Given the description of an element on the screen output the (x, y) to click on. 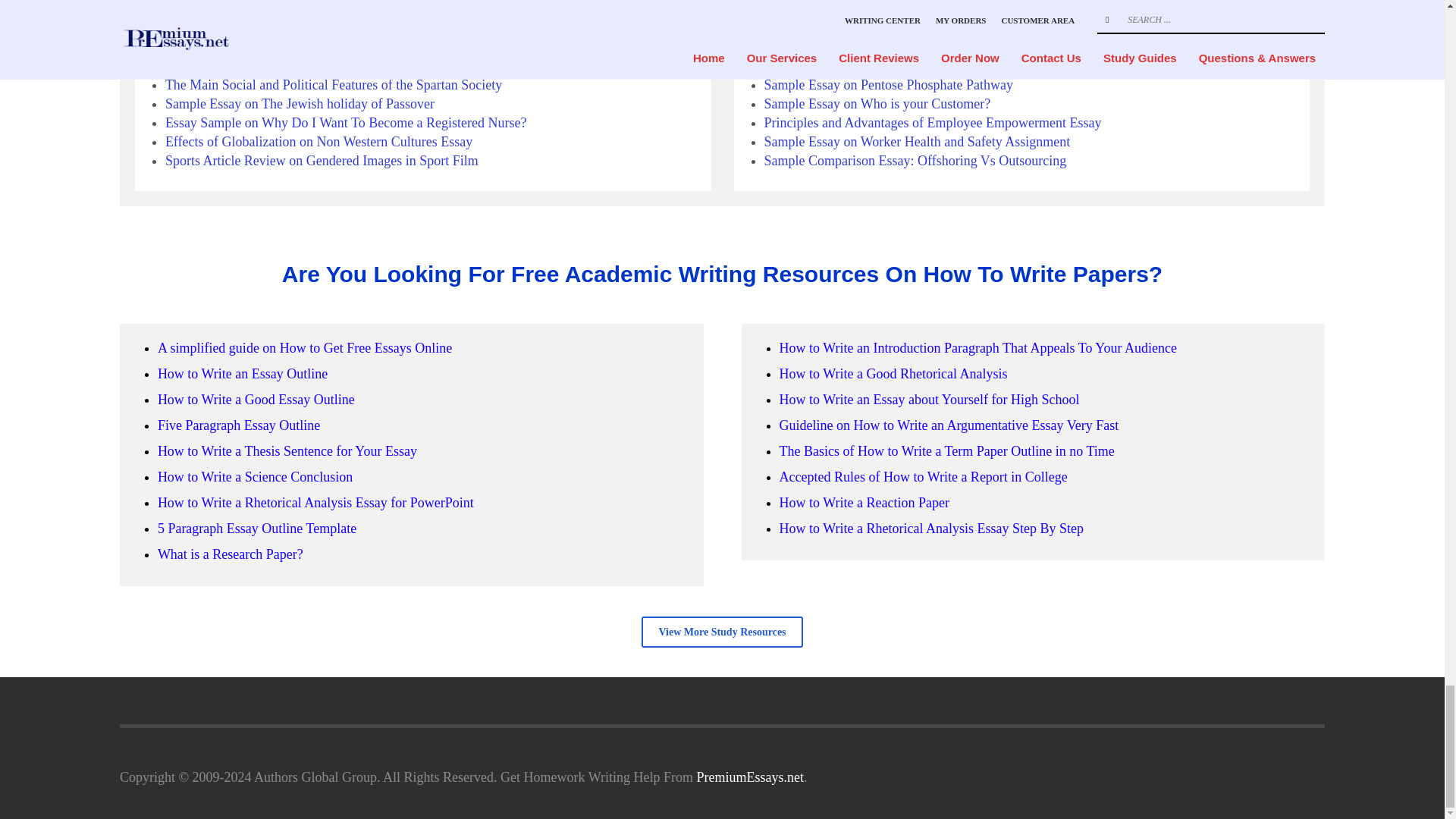
Coursework on Action plan (240, 8)
Sample Essay on The Jewish holiday of Passover (299, 103)
Compostion Paper on Climate Change Is Man Made (308, 65)
Essay Sample on Why Do I Want To Become a Registered Nurse? (346, 122)
Sample Essay on Factors Affecting Pharmaceutical Industry (329, 28)
